Given the description of an element on the screen output the (x, y) to click on. 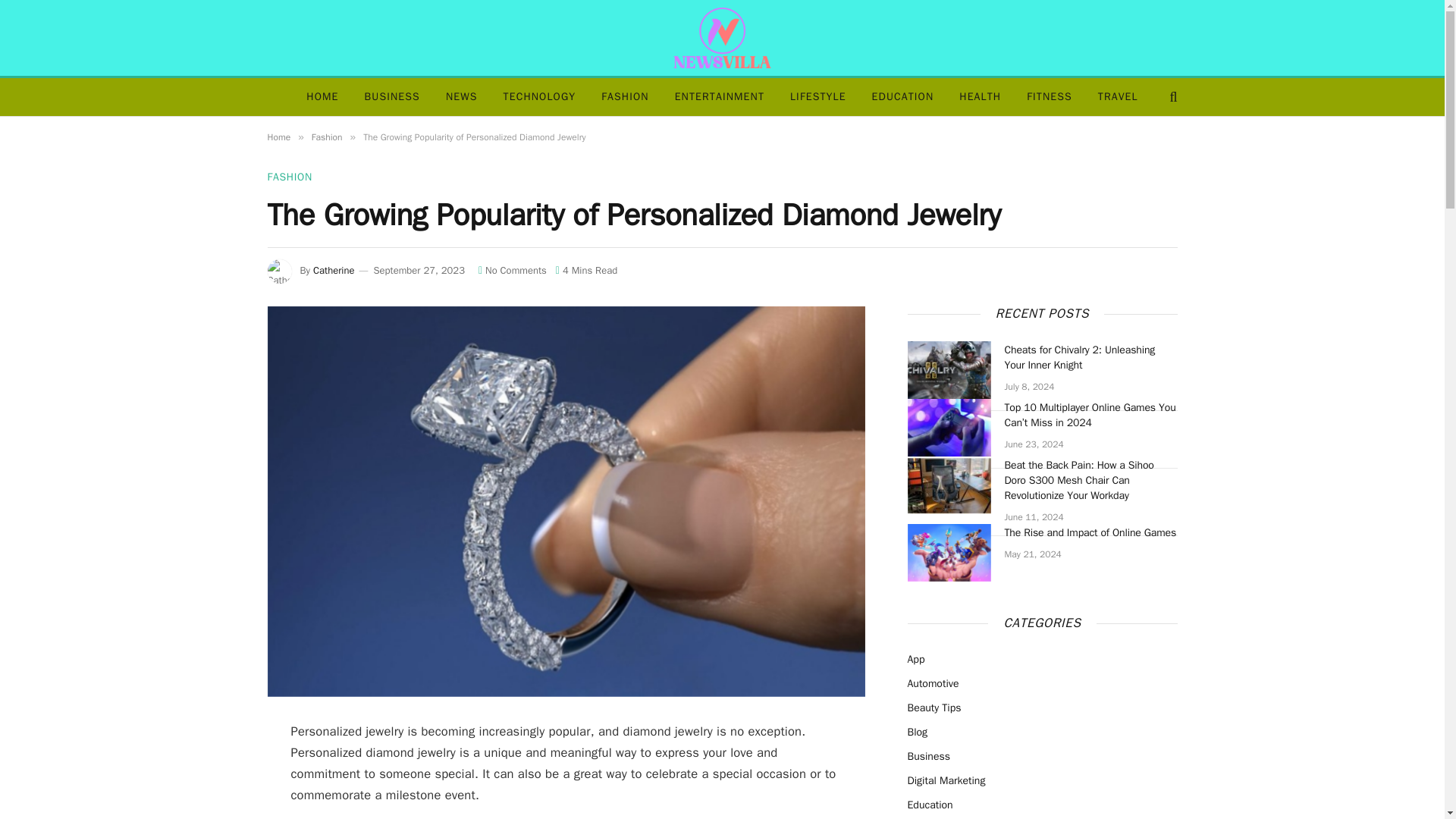
HEALTH (979, 96)
TRAVEL (1117, 96)
FITNESS (1048, 96)
HOME (322, 96)
ENTERTAINMENT (719, 96)
LIFESTYLE (818, 96)
FASHION (624, 96)
News Villa (721, 38)
NEWS (461, 96)
BUSINESS (392, 96)
No Comments (513, 269)
Fashion (326, 137)
TECHNOLOGY (539, 96)
Home (277, 137)
